Given the description of an element on the screen output the (x, y) to click on. 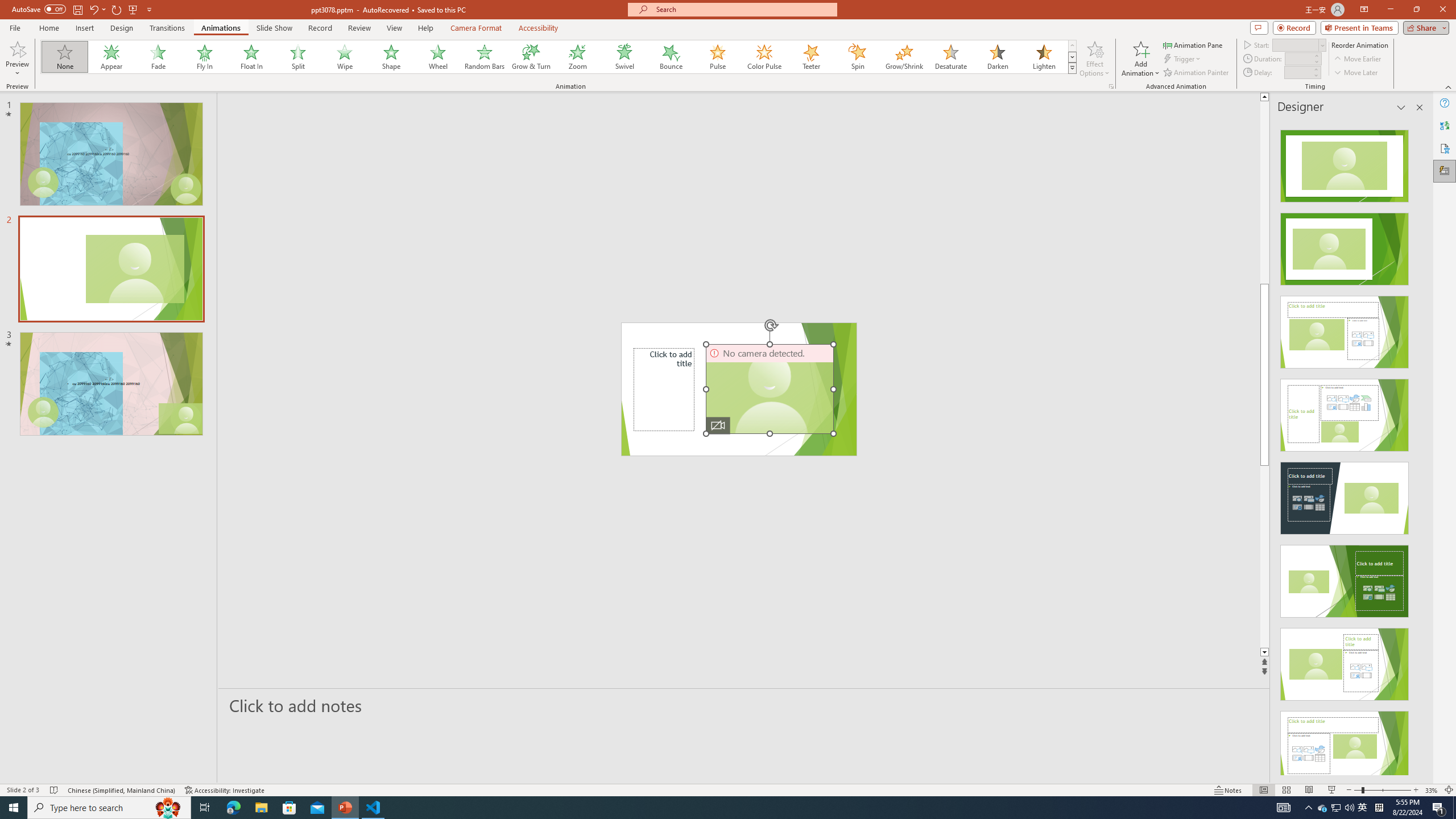
Class: NetUIScrollBar (1418, 447)
Color Pulse (764, 56)
Add Animation (1141, 58)
Shape (391, 56)
Appear (111, 56)
Effect Options (1094, 58)
Design Idea (1344, 743)
